Given the description of an element on the screen output the (x, y) to click on. 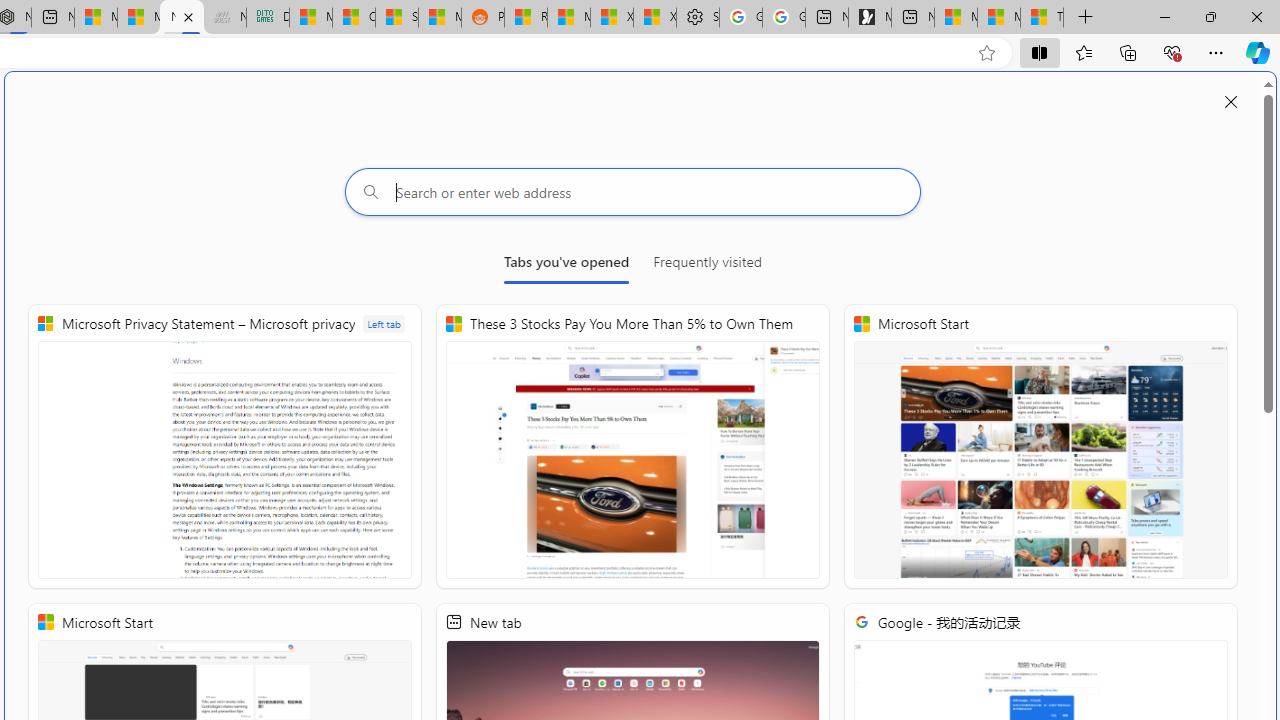
R******* | Trusted Community Engagement and Contributions (525, 17)
Search or enter web address (633, 191)
Tabs you've opened (566, 265)
Close split screen (1231, 102)
These 3 Stocks Pay You More Than 5% to Own Them (1042, 17)
